Given the description of an element on the screen output the (x, y) to click on. 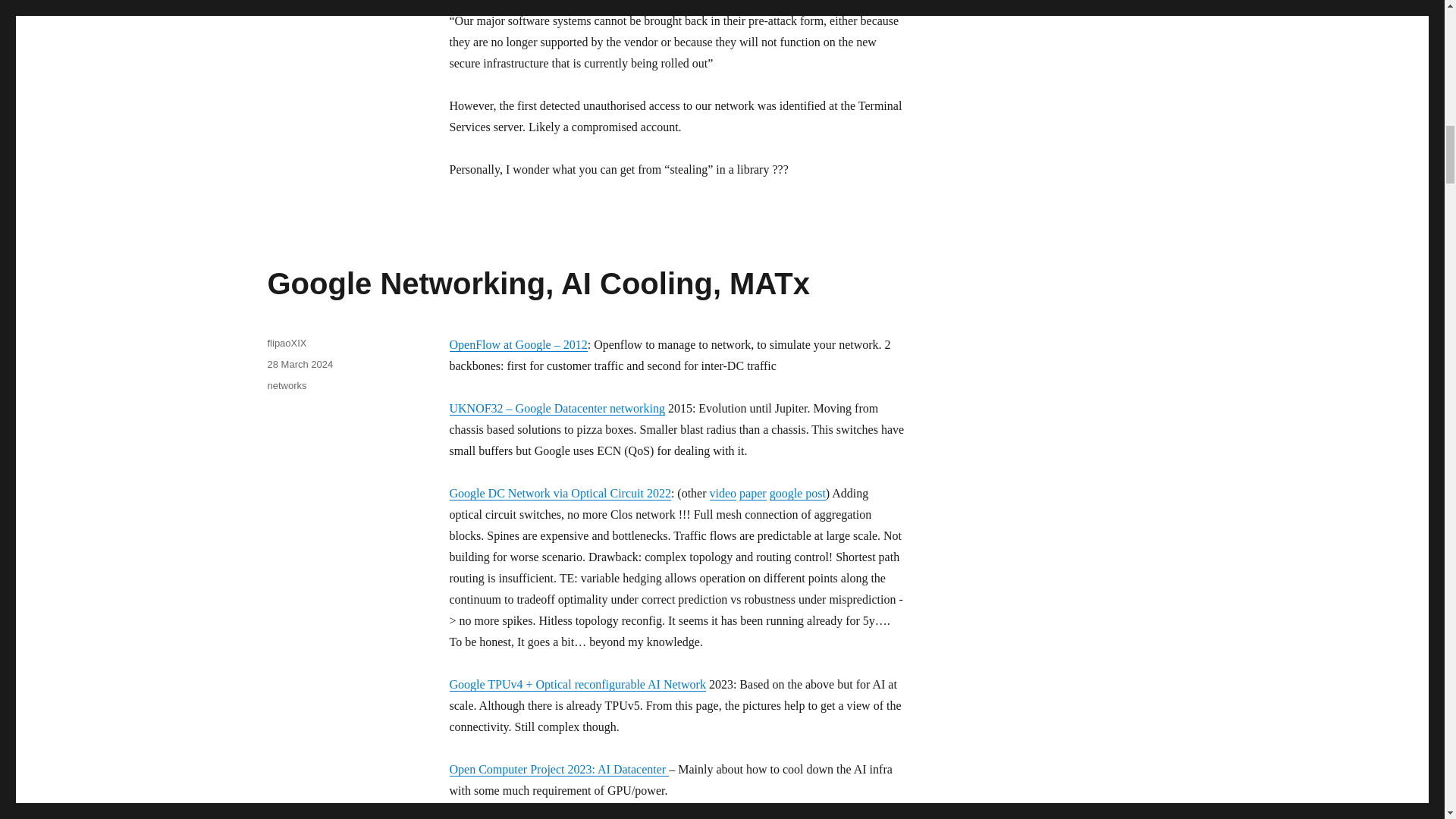
28 March 2024 (299, 364)
Open Computer Project 2023: AI Datacenter (558, 768)
Google Networking, AI Cooling, MATx (537, 283)
Google DC Network via Optical Circuit 2022 (558, 492)
networks (285, 385)
google post (797, 492)
video (723, 492)
paper (753, 492)
flipaoXIX (285, 342)
